Given the description of an element on the screen output the (x, y) to click on. 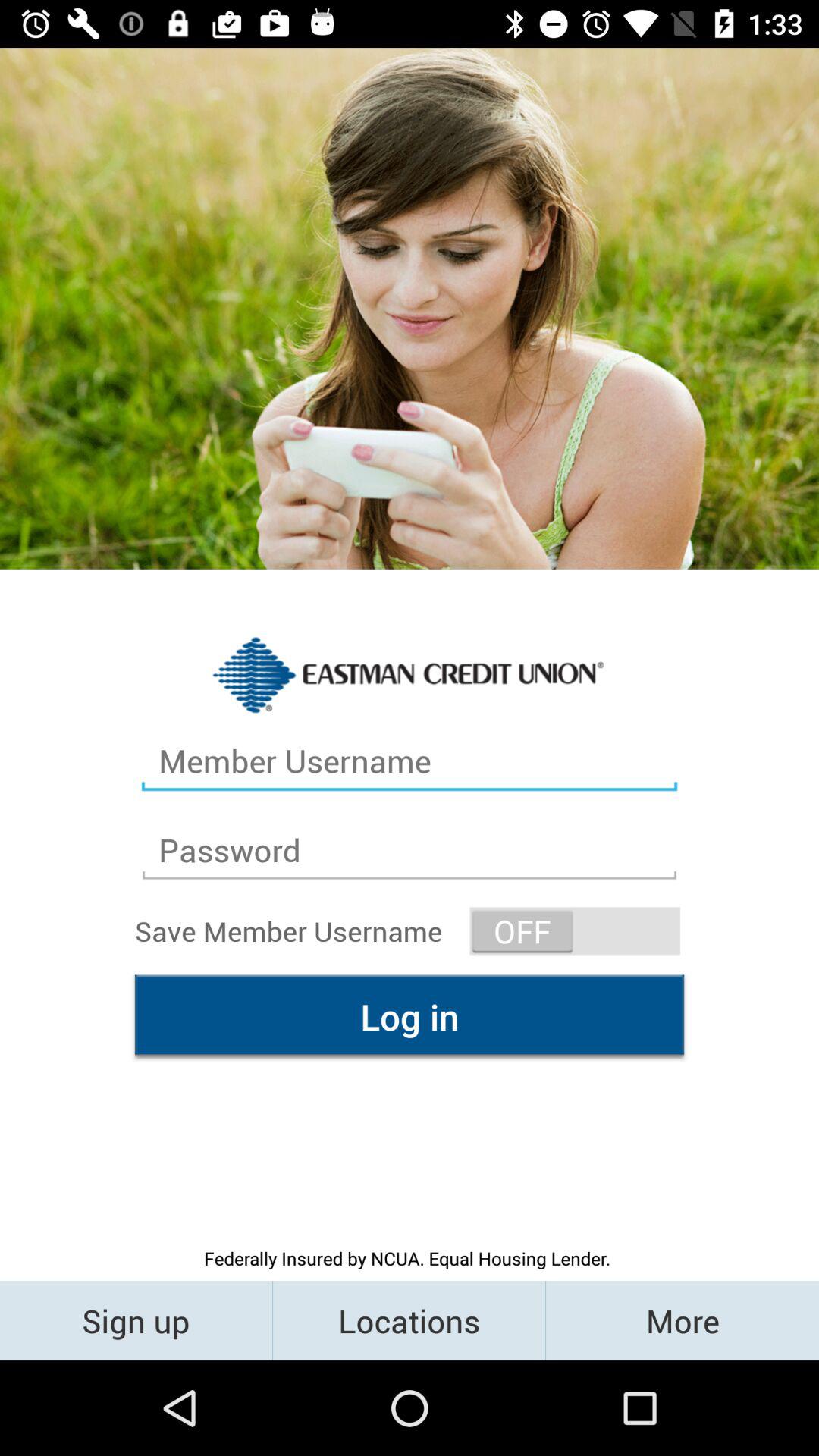
turn off the log in item (409, 1016)
